Given the description of an element on the screen output the (x, y) to click on. 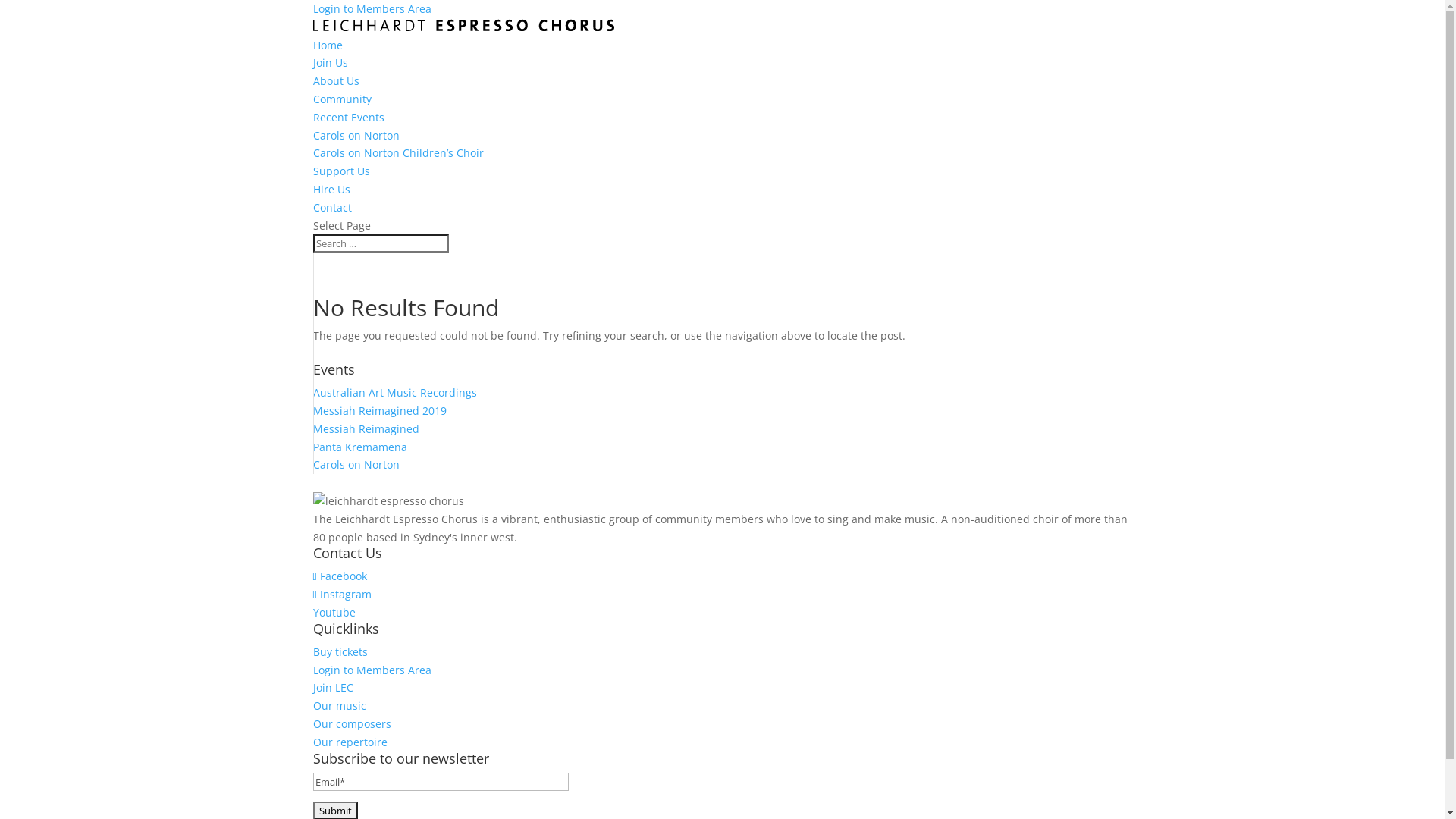
Carols on Norton Element type: text (355, 135)
Instagram Element type: text (341, 593)
Facebook Element type: text (339, 575)
Messiah Reimagined Element type: text (365, 428)
Panta Kremamena Element type: text (359, 446)
Carols on Norton Element type: text (355, 464)
Community Element type: text (341, 98)
Search for: Element type: hover (380, 243)
Our composers Element type: text (351, 723)
Login to Members Area Element type: text (371, 669)
Join Us Element type: text (329, 62)
Contact Element type: text (331, 207)
Our music Element type: text (338, 705)
Support Us Element type: text (340, 170)
Buy tickets Element type: text (339, 651)
Home Element type: text (327, 44)
Hire Us Element type: text (330, 189)
Messiah Reimagined 2019 Element type: text (378, 410)
Login to Members Area Element type: text (371, 8)
About Us Element type: text (335, 80)
Youtube Element type: text (333, 612)
Recent Events Element type: text (347, 116)
Our repertoire Element type: text (349, 741)
Australian Art Music Recordings Element type: text (394, 392)
Join LEC Element type: text (332, 687)
